Given the description of an element on the screen output the (x, y) to click on. 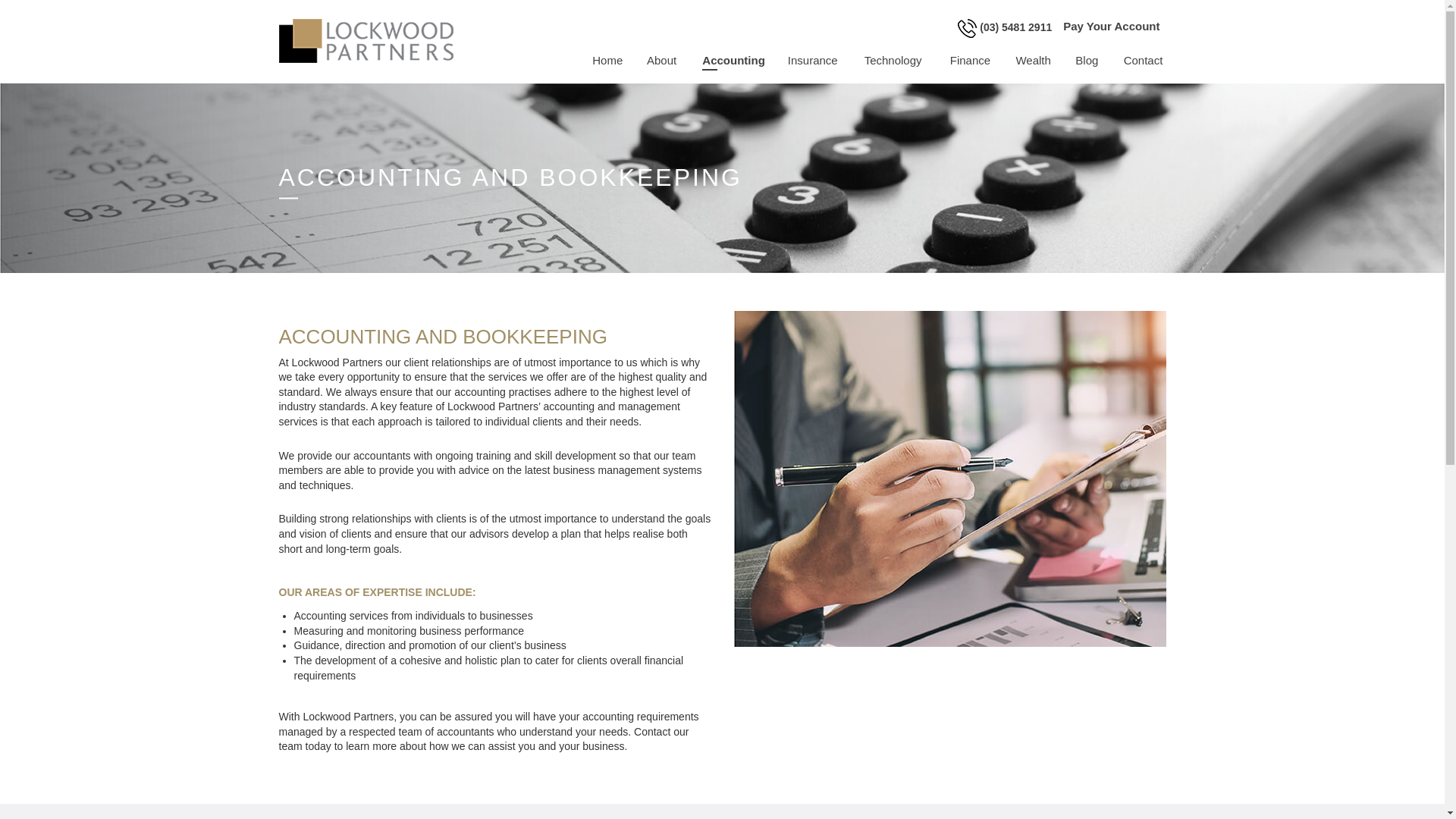
Wealth Element type: text (1033, 60)
Finance Element type: text (971, 60)
Insurance Element type: text (814, 60)
About Element type: text (662, 60)
Accounting Element type: text (733, 60)
Contact Element type: text (1139, 60)
Home Element type: text (607, 60)
Blog Element type: text (1087, 60)
(03) 5481 2911 Element type: text (1015, 27)
Technology Element type: text (895, 60)
Pay Your Account Element type: text (1108, 29)
